Given the description of an element on the screen output the (x, y) to click on. 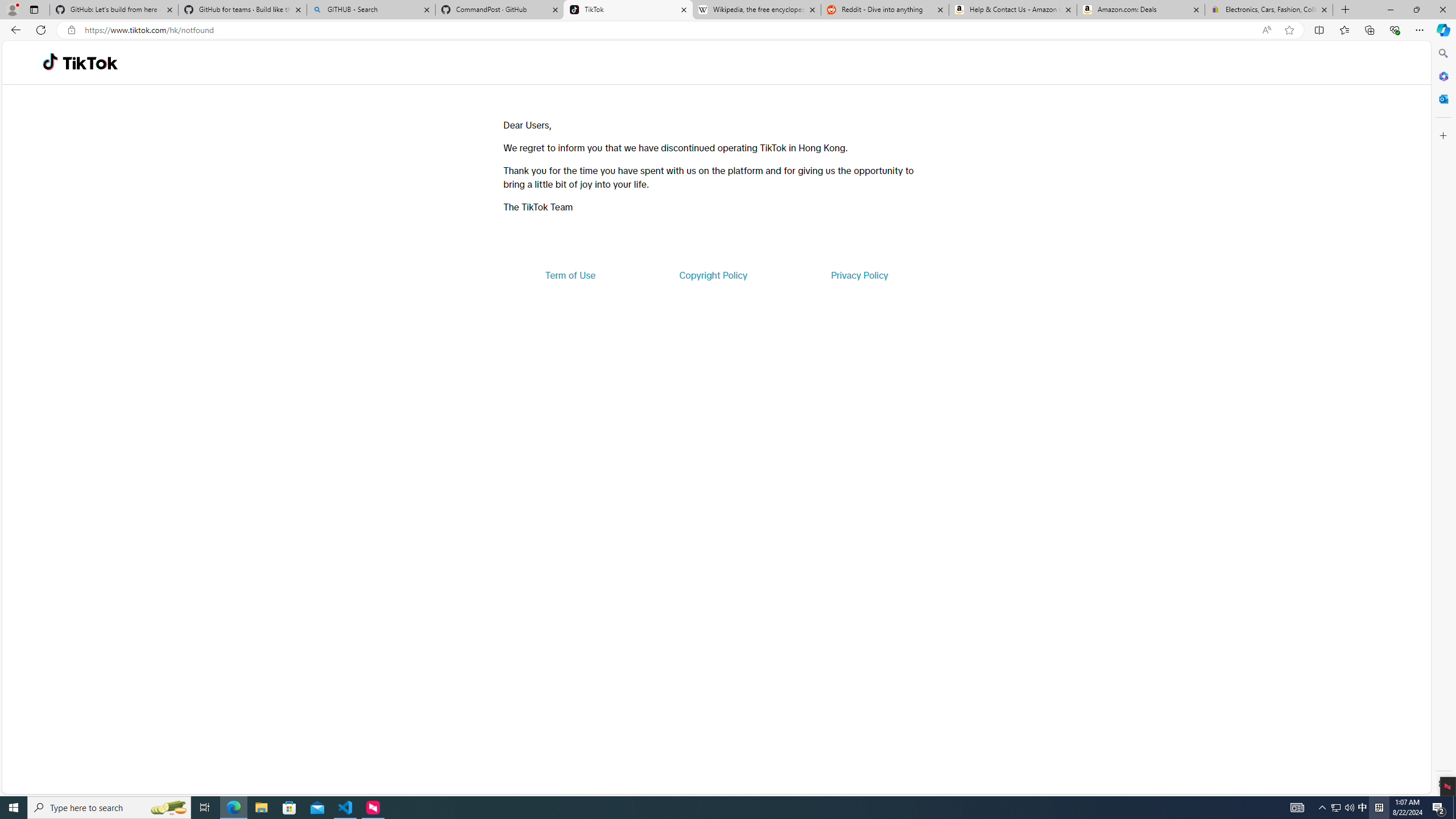
Add this page to favorites (Ctrl+D) (1289, 29)
Help & Contact Us - Amazon Customer Service (1012, 9)
Side bar (1443, 418)
Reddit - Dive into anything (884, 9)
Customize (1442, 135)
View site information (70, 29)
